Given the description of an element on the screen output the (x, y) to click on. 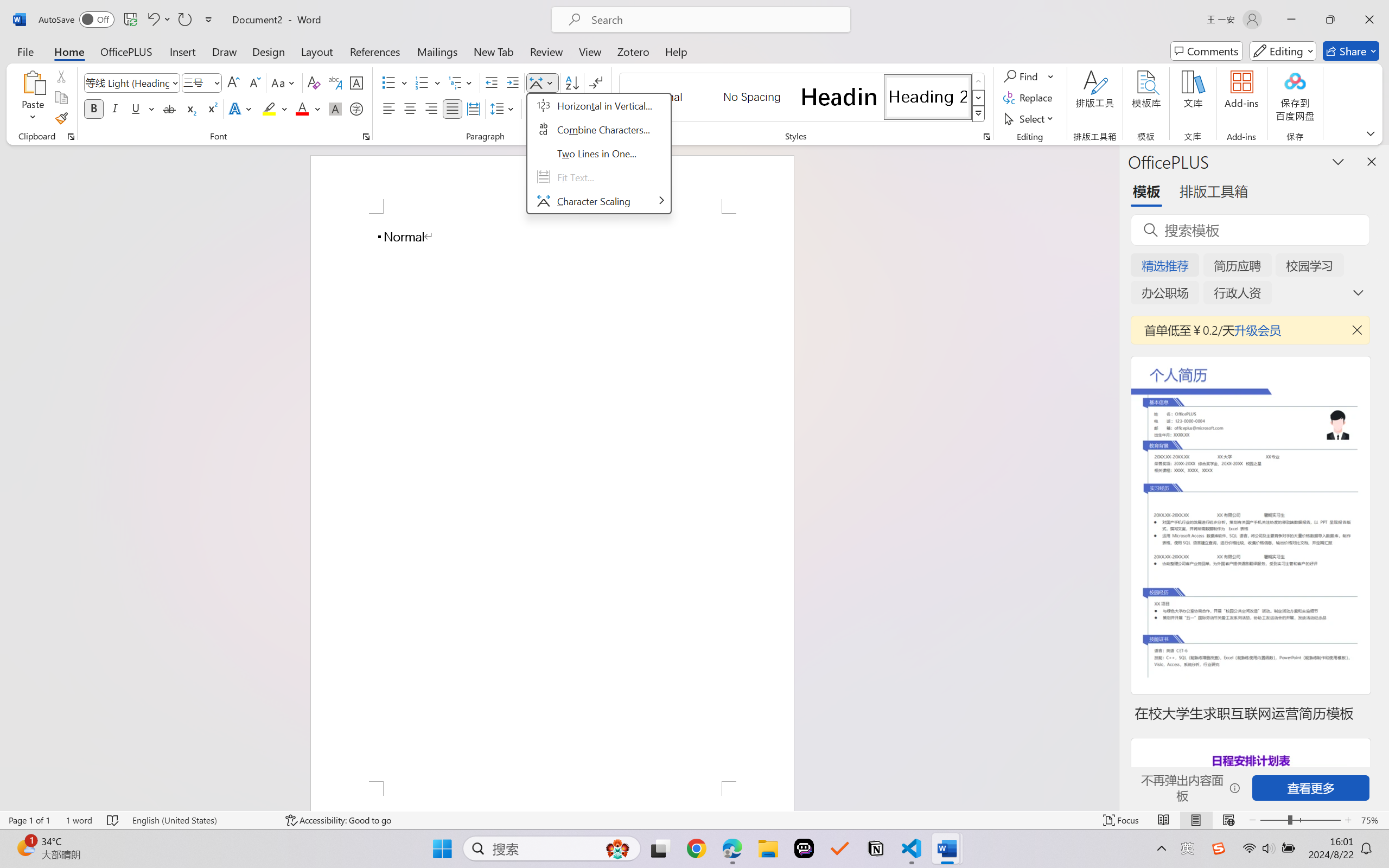
Text Highlight Color (274, 108)
Accessibility Checker Accessibility: Good to go (338, 819)
Row Down (978, 97)
Share (1350, 51)
Distributed (473, 108)
Repeat Doc Close (184, 19)
Asian Layout (542, 82)
Spelling and Grammar Check No Errors (113, 819)
Enclose Characters... (356, 108)
Shrink Font (253, 82)
Mailings (437, 51)
Class: Image (1218, 847)
